Given the description of an element on the screen output the (x, y) to click on. 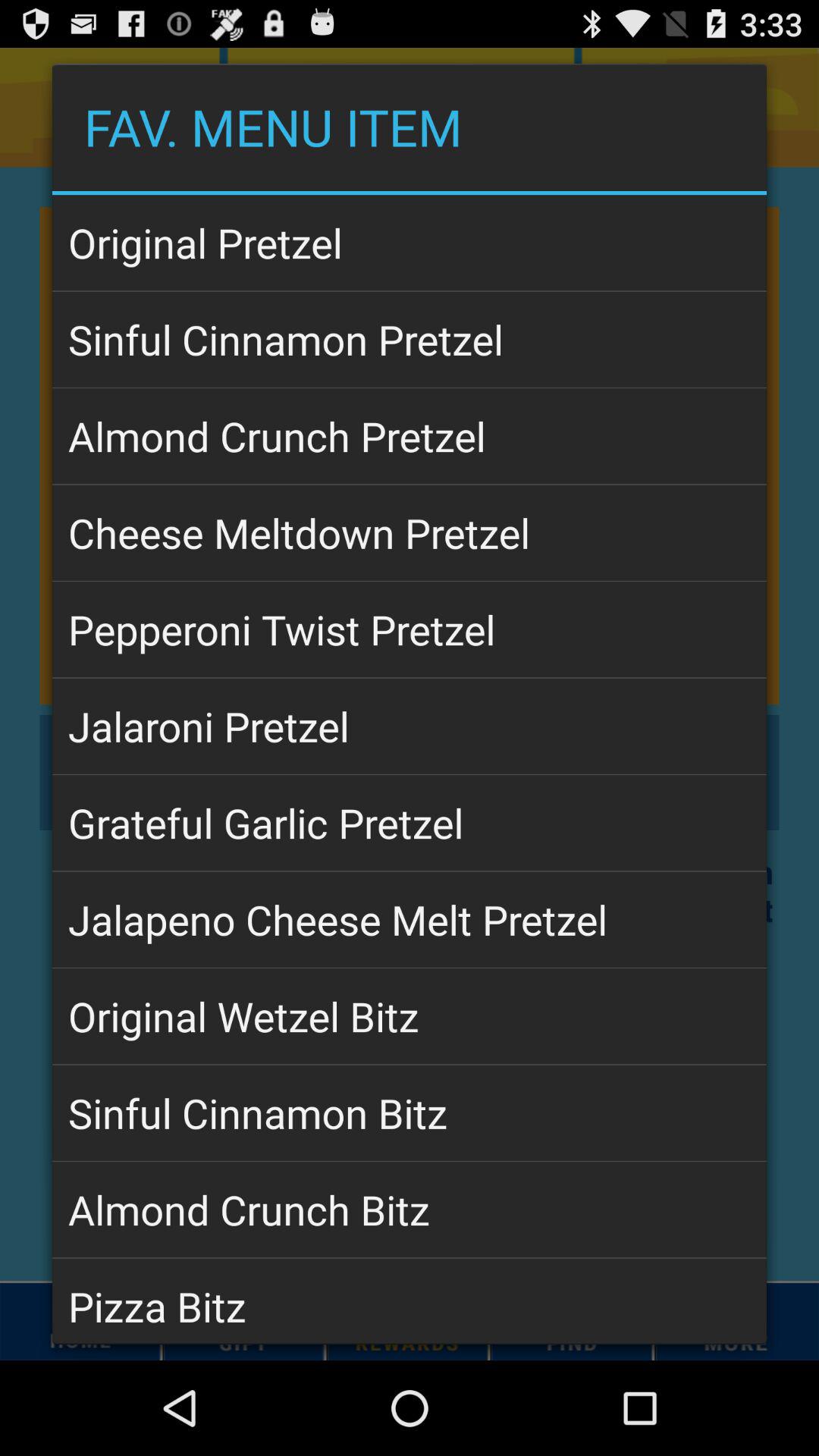
turn on original pretzel app (409, 242)
